Given the description of an element on the screen output the (x, y) to click on. 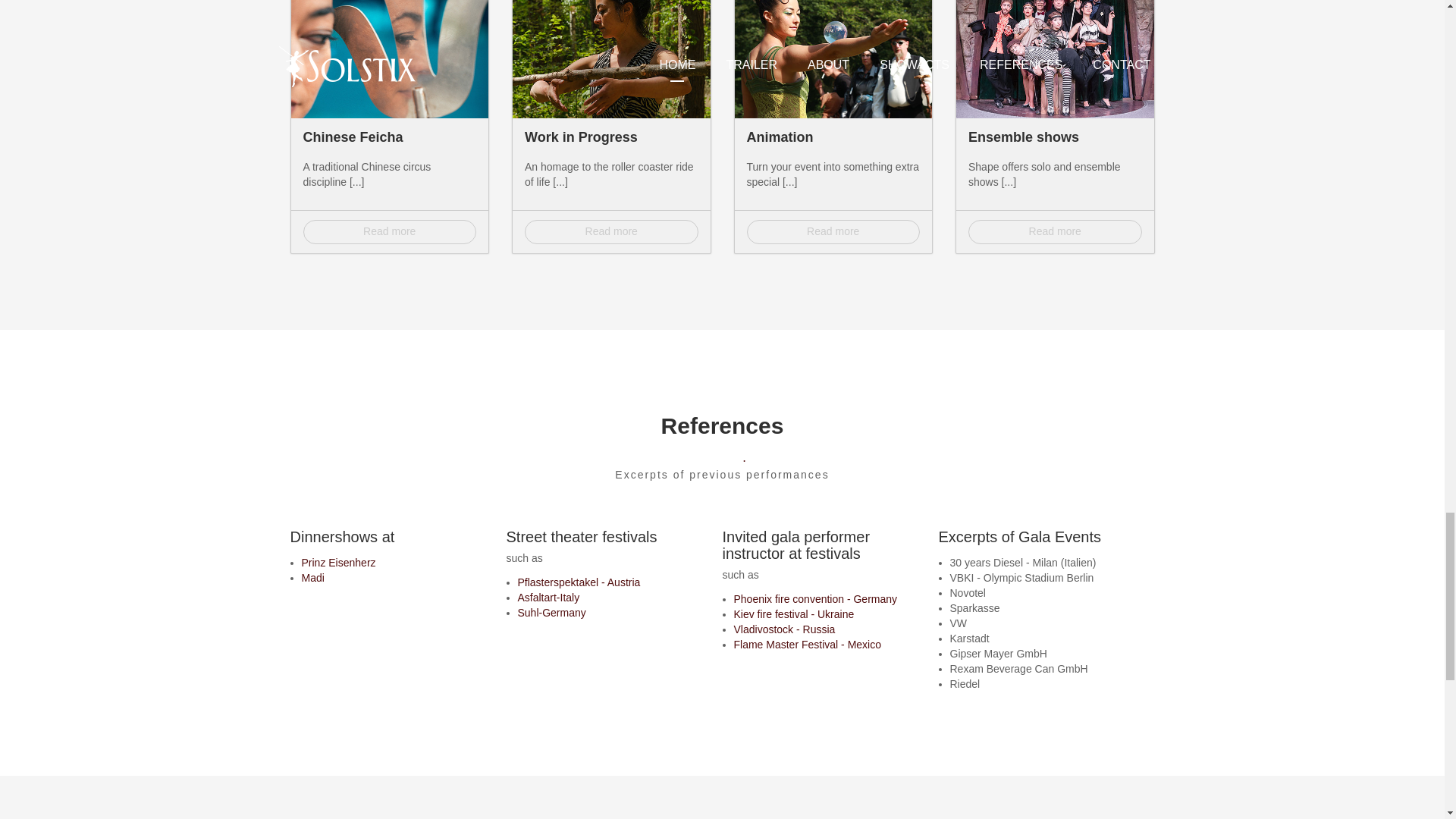
Suhl-Germany (550, 613)
Read more (611, 232)
Read more (832, 232)
Prinz Eisenherz (338, 563)
Pflasterspektakel - Austria (578, 582)
Vladivostock - Russia (784, 630)
Read more (1054, 232)
Kiev fire festival - Ukraine (793, 614)
Madi (312, 578)
Asfaltart-Italy (547, 598)
